Given the description of an element on the screen output the (x, y) to click on. 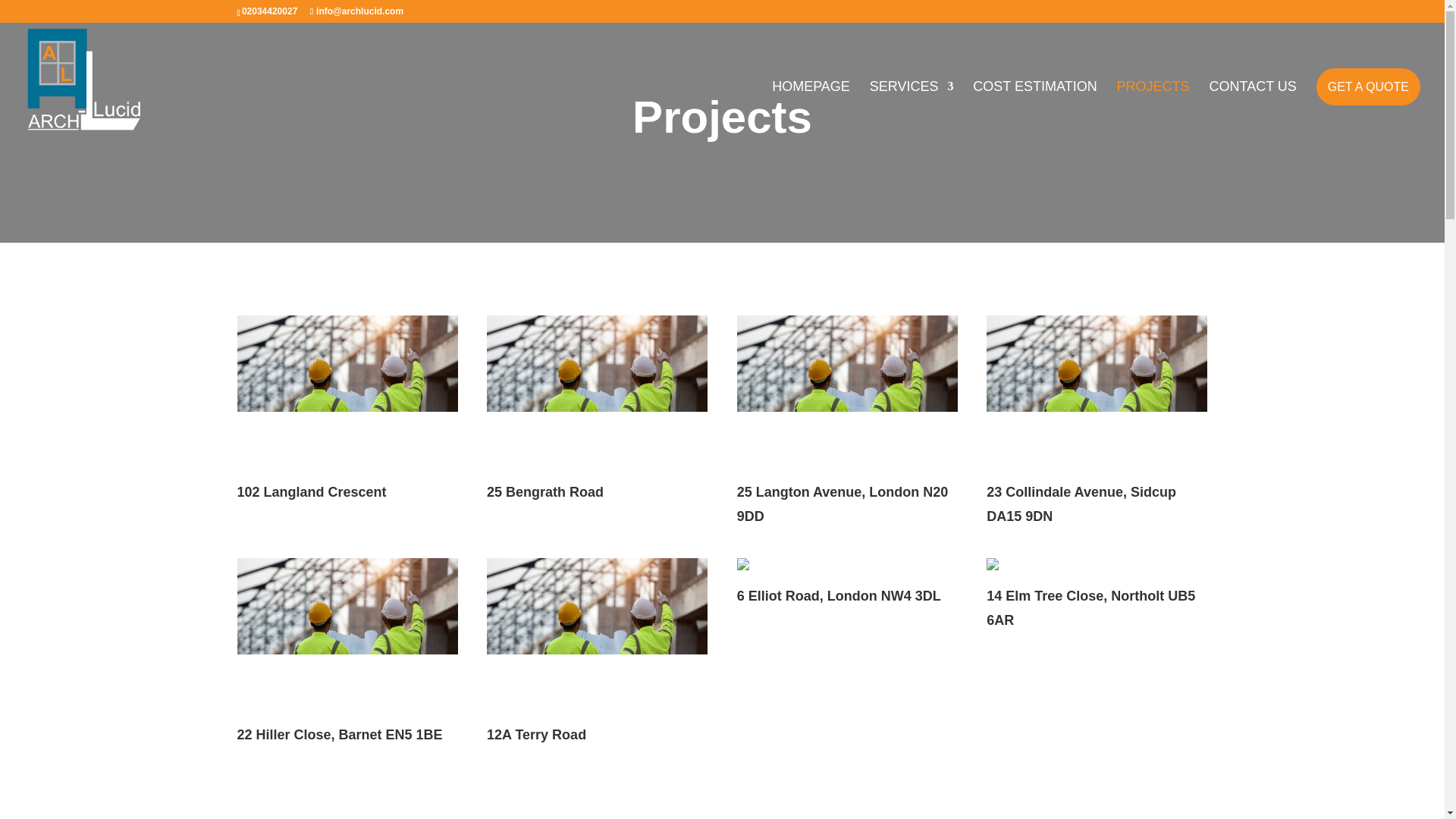
25 Langton Avenue, London N20 9DD (842, 504)
14 Elm Tree Close, Northolt UB5 6AR (1091, 608)
6 Elliot Road, London NW4 3DL (838, 595)
COST ESTIMATION (1034, 109)
PROJECTS (1152, 109)
102 Langland Crescent (346, 393)
HOMEPAGE (810, 109)
102 Langland Crescent (310, 491)
22 Hiller Close, Barnet EN5 1BE (338, 734)
12A Terry Road (596, 635)
